Given the description of an element on the screen output the (x, y) to click on. 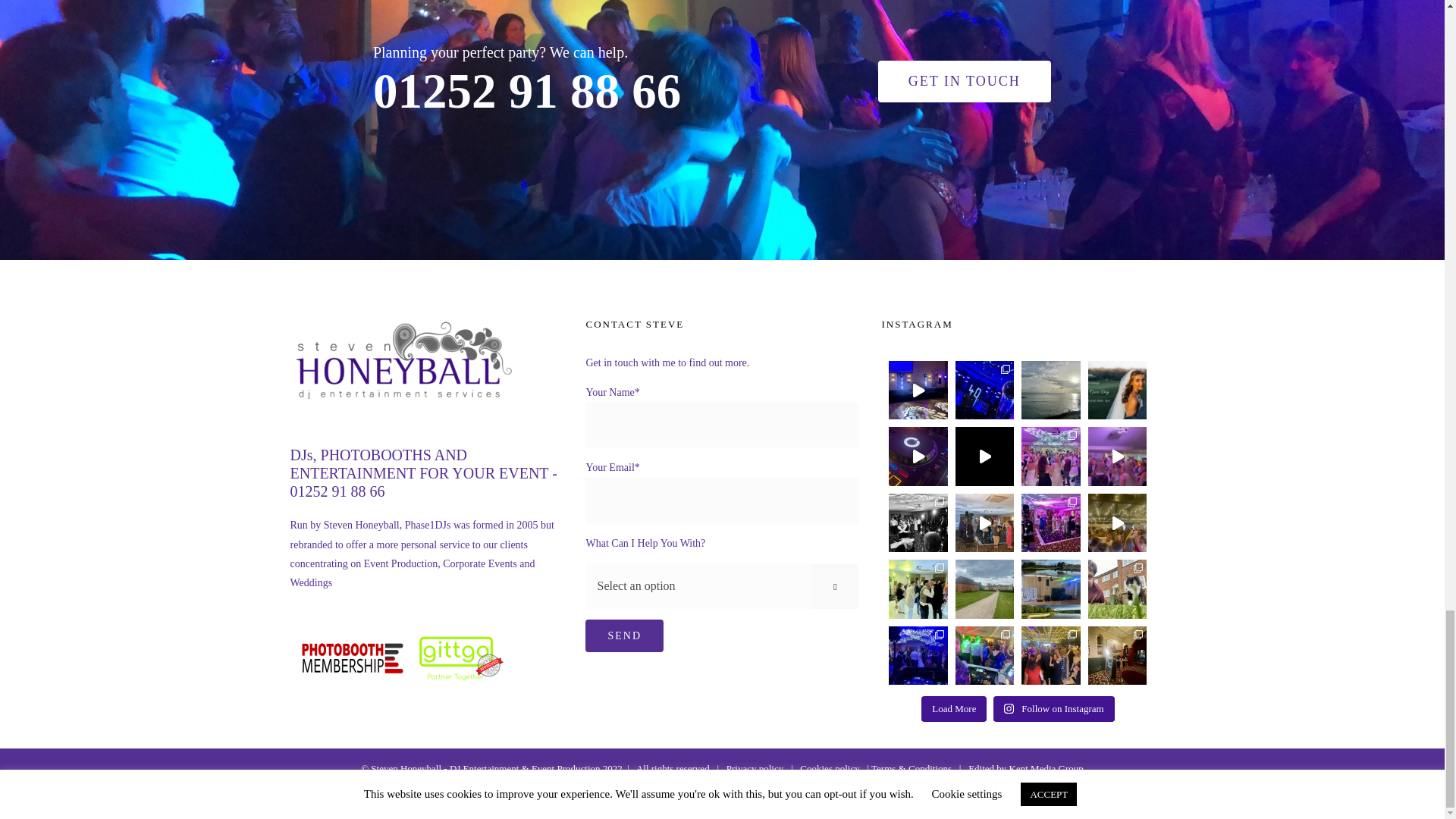
Send (624, 635)
